Given the description of an element on the screen output the (x, y) to click on. 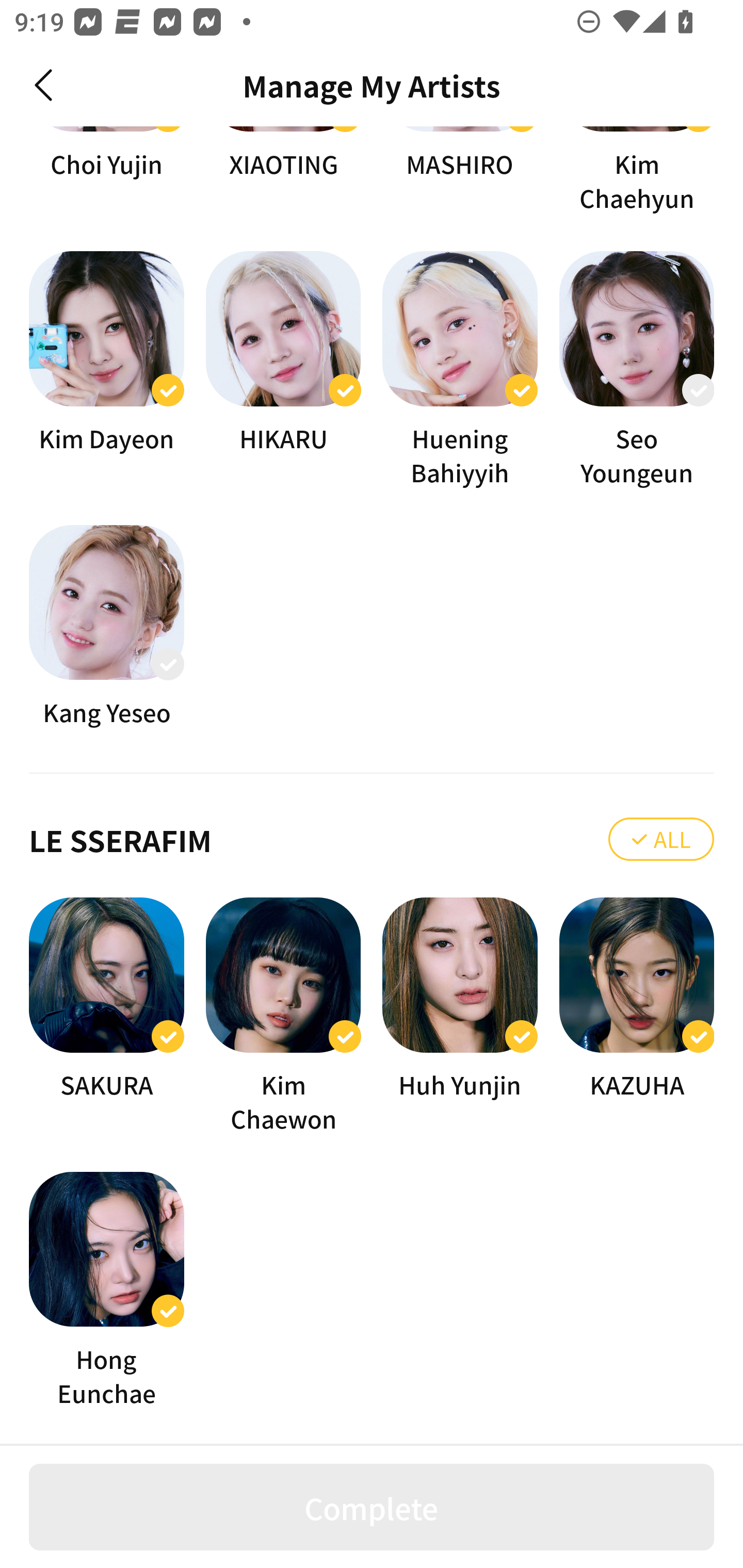
Kim Dayeon (106, 369)
HIKARU (282, 369)
Huening Bahiyyih (459, 369)
Seo Youngeun (636, 369)
Kang Yeseo (106, 627)
ALL (661, 838)
SAKURA (106, 1015)
Kim Chaewon (282, 1015)
Huh Yunjin (459, 1015)
KAZUHA (636, 1015)
Hong Eunchae (106, 1290)
Complete (371, 1507)
